Given the description of an element on the screen output the (x, y) to click on. 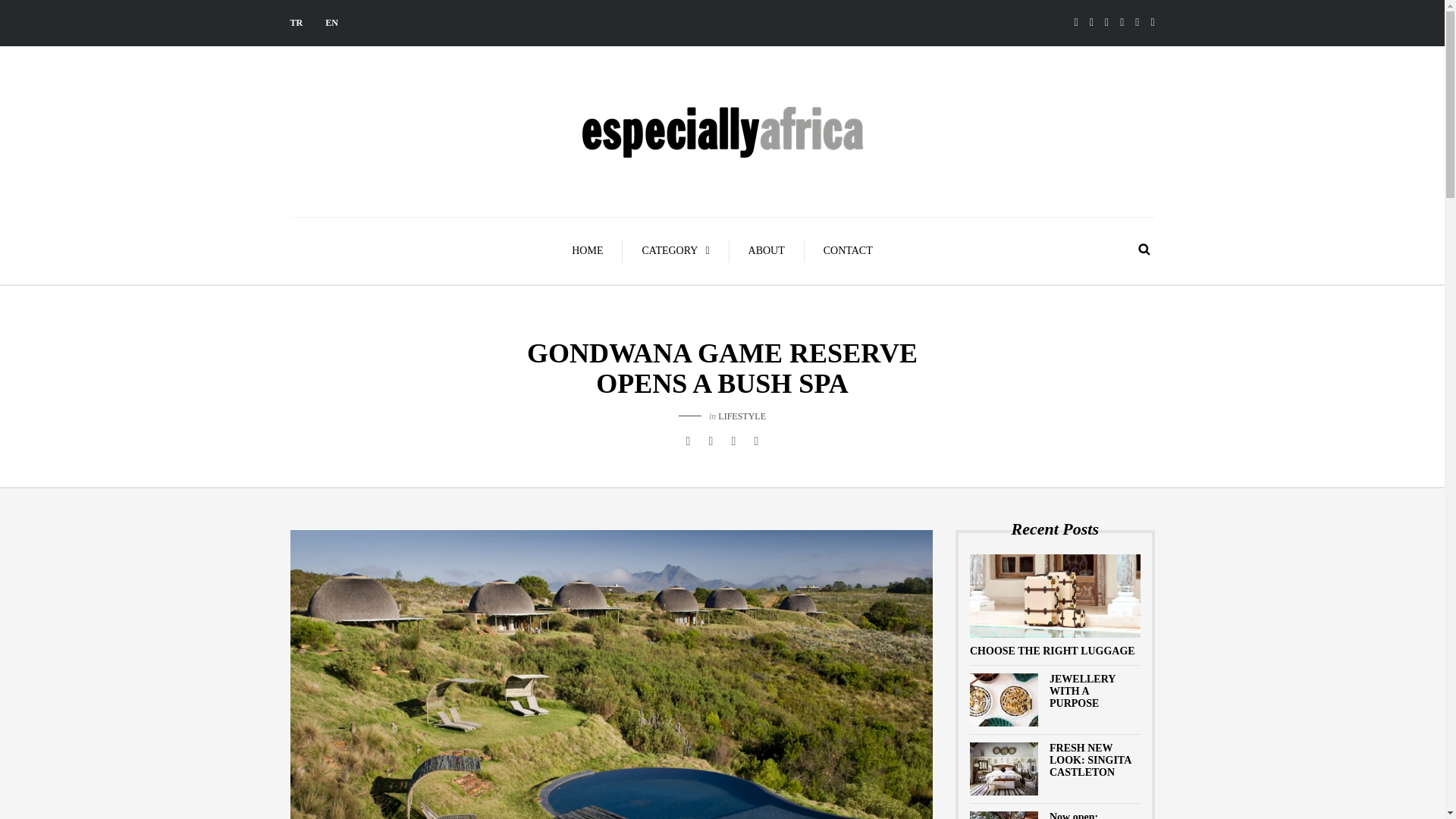
Pin this (755, 440)
Share this (687, 440)
CATEGORY (676, 250)
Share with Google Plus (733, 440)
HOME (588, 250)
CONTACT (848, 250)
Tweet this (710, 440)
ABOUT (767, 250)
LIFESTYLE (741, 416)
